Given the description of an element on the screen output the (x, y) to click on. 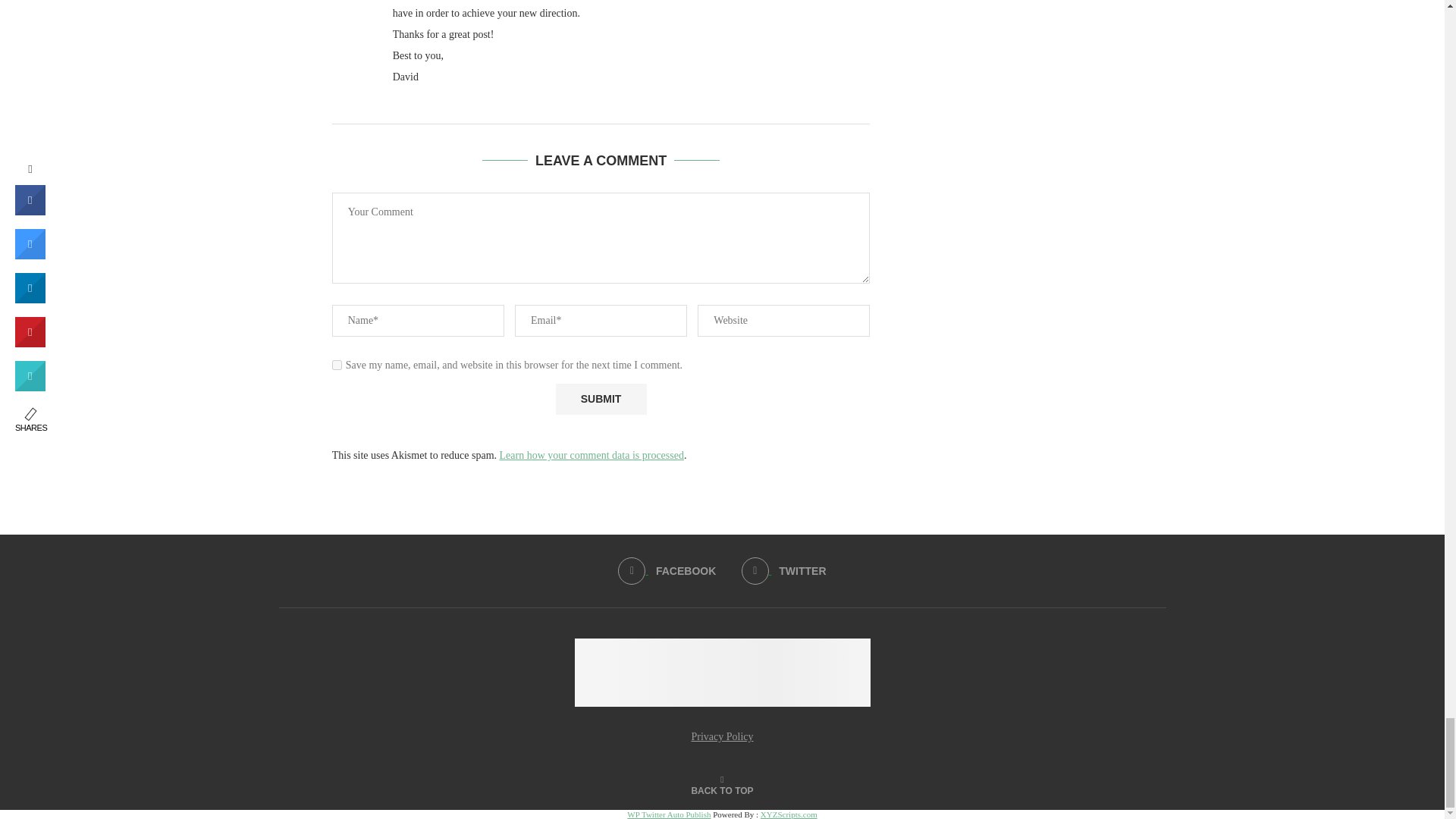
Submit (601, 399)
yes (336, 365)
